Given the description of an element on the screen output the (x, y) to click on. 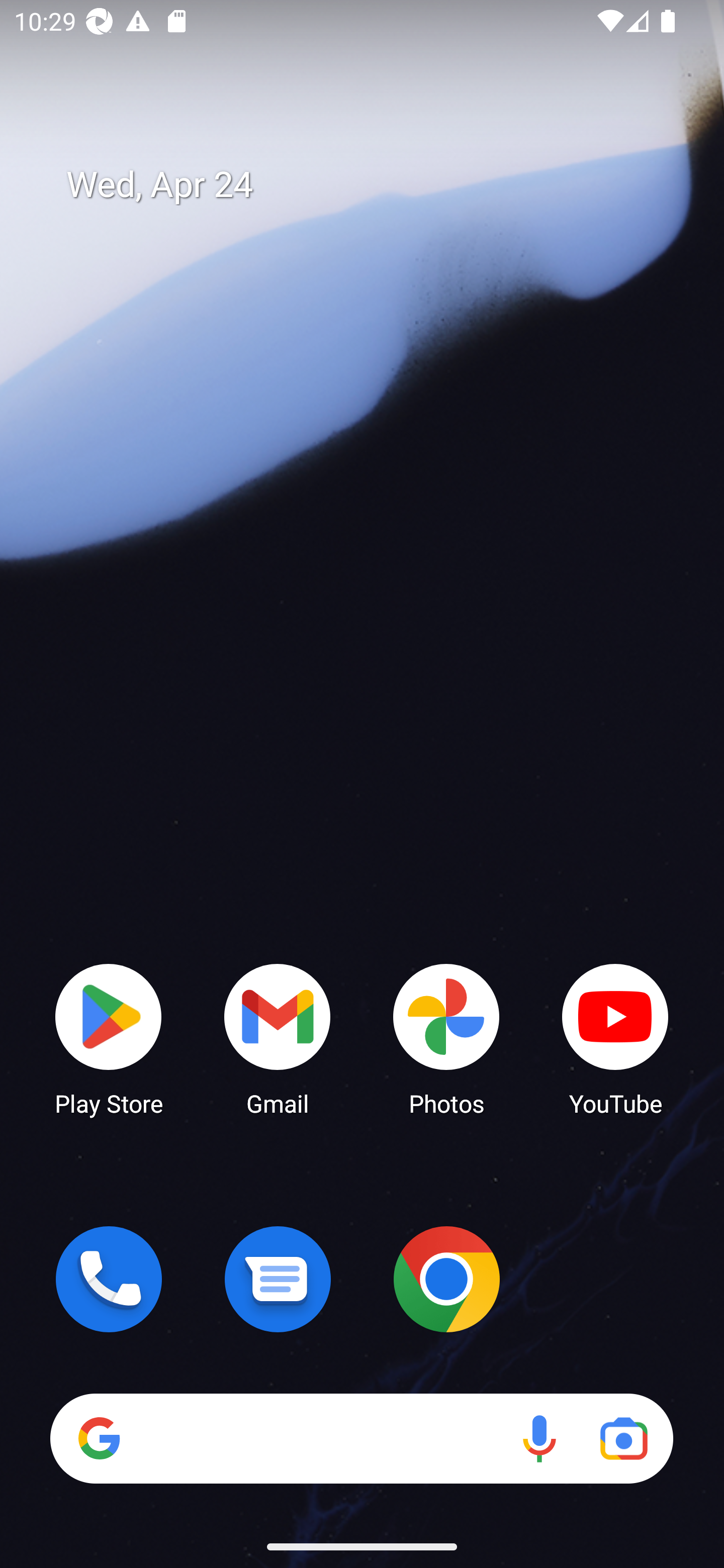
Wed, Apr 24 (375, 184)
Play Store (108, 1038)
Gmail (277, 1038)
Photos (445, 1038)
YouTube (615, 1038)
Phone (108, 1279)
Messages (277, 1279)
Chrome (446, 1279)
Search Voice search Google Lens (361, 1438)
Voice search (539, 1438)
Google Lens (623, 1438)
